Given the description of an element on the screen output the (x, y) to click on. 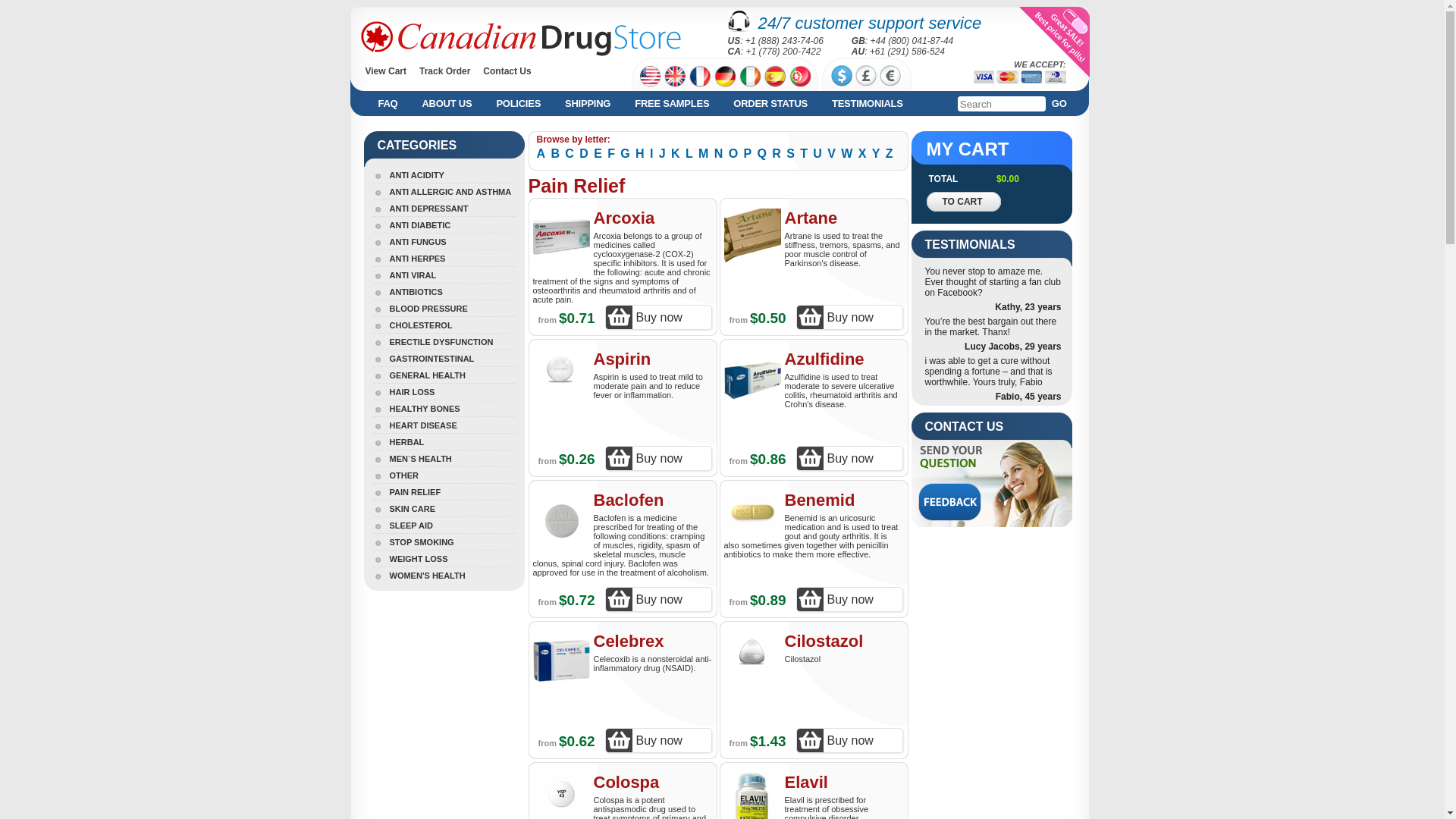
Free Samples (668, 103)
CHOLESTEROL (412, 324)
ANTI DIABETIC (411, 224)
BLOOD PRESSURE (419, 308)
TESTIMONIALS (864, 103)
GO (1062, 103)
ANTI ACIDITY (408, 174)
POLICIES (515, 103)
FAQ (384, 103)
Track Order (444, 71)
Contact Us (507, 71)
SHIPPING (585, 103)
My Cart (443, 103)
GASTROINTESTINAL (423, 358)
ABOUT US (443, 103)
